Given the description of an element on the screen output the (x, y) to click on. 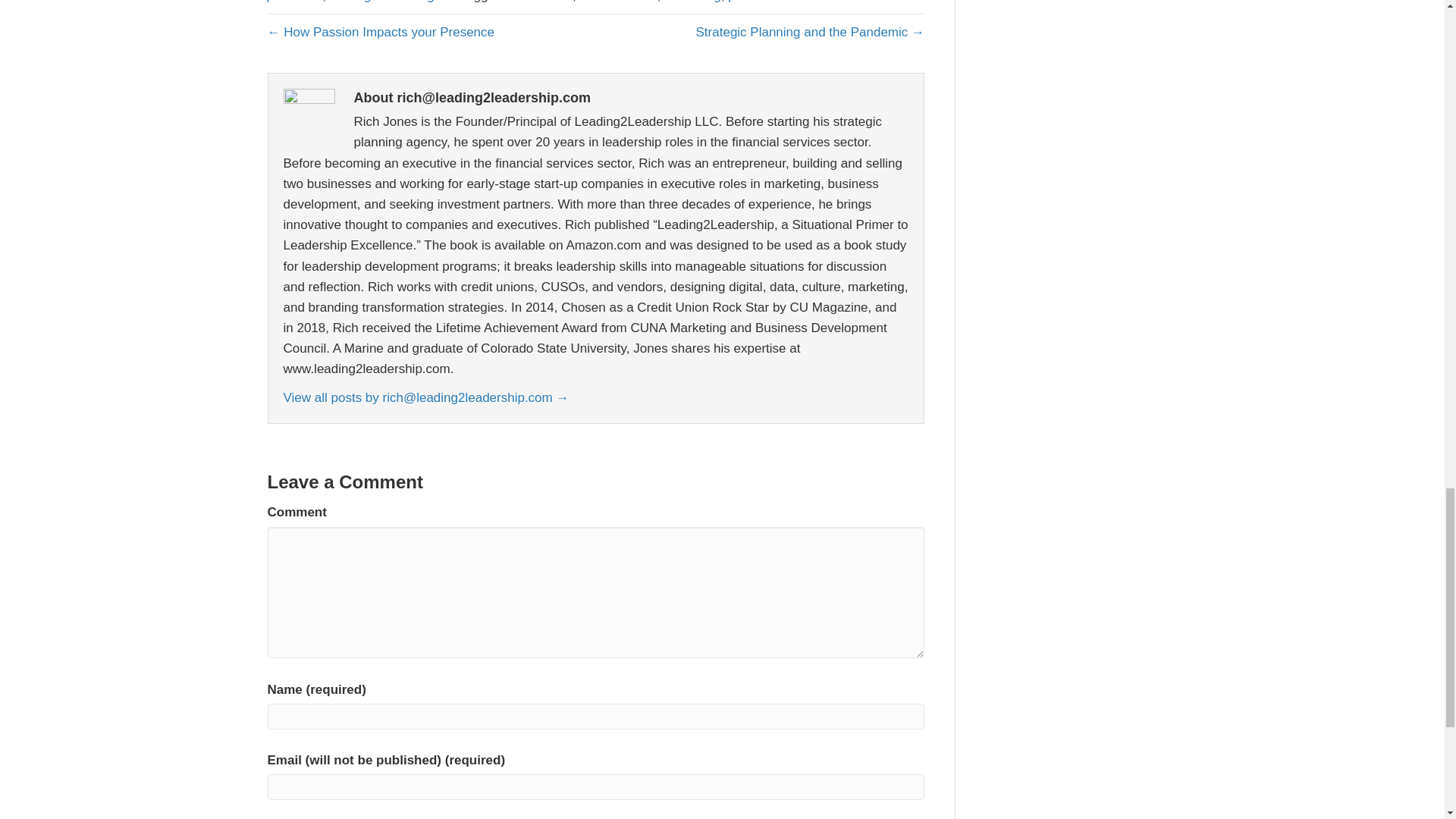
credit union (539, 1)
Strategic Planning (382, 1)
differentiation (619, 1)
marketing (693, 1)
pandemic (756, 1)
pandemic (294, 1)
